Given the description of an element on the screen output the (x, y) to click on. 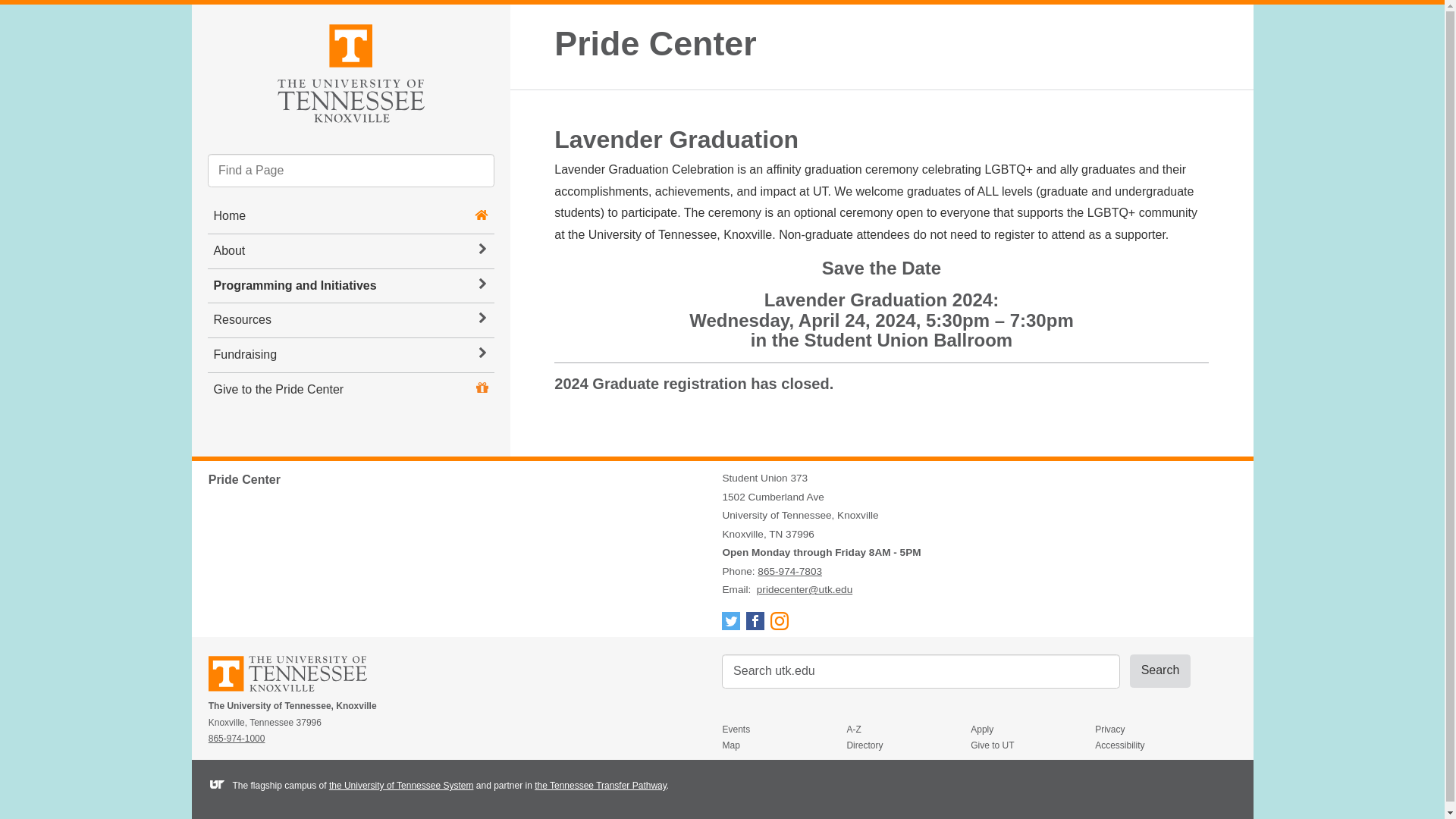
Home (230, 215)
Submit (1160, 670)
Programming and Initiatives (351, 286)
About (351, 251)
The University of Tennessee, Knoxville (349, 70)
search (920, 671)
Pride Center (654, 43)
Skip to content (204, 17)
Search utk.edu (920, 671)
Fundraising (351, 355)
Search (1160, 670)
865-974-7803 (789, 571)
Pride Center (654, 43)
